Given the description of an element on the screen output the (x, y) to click on. 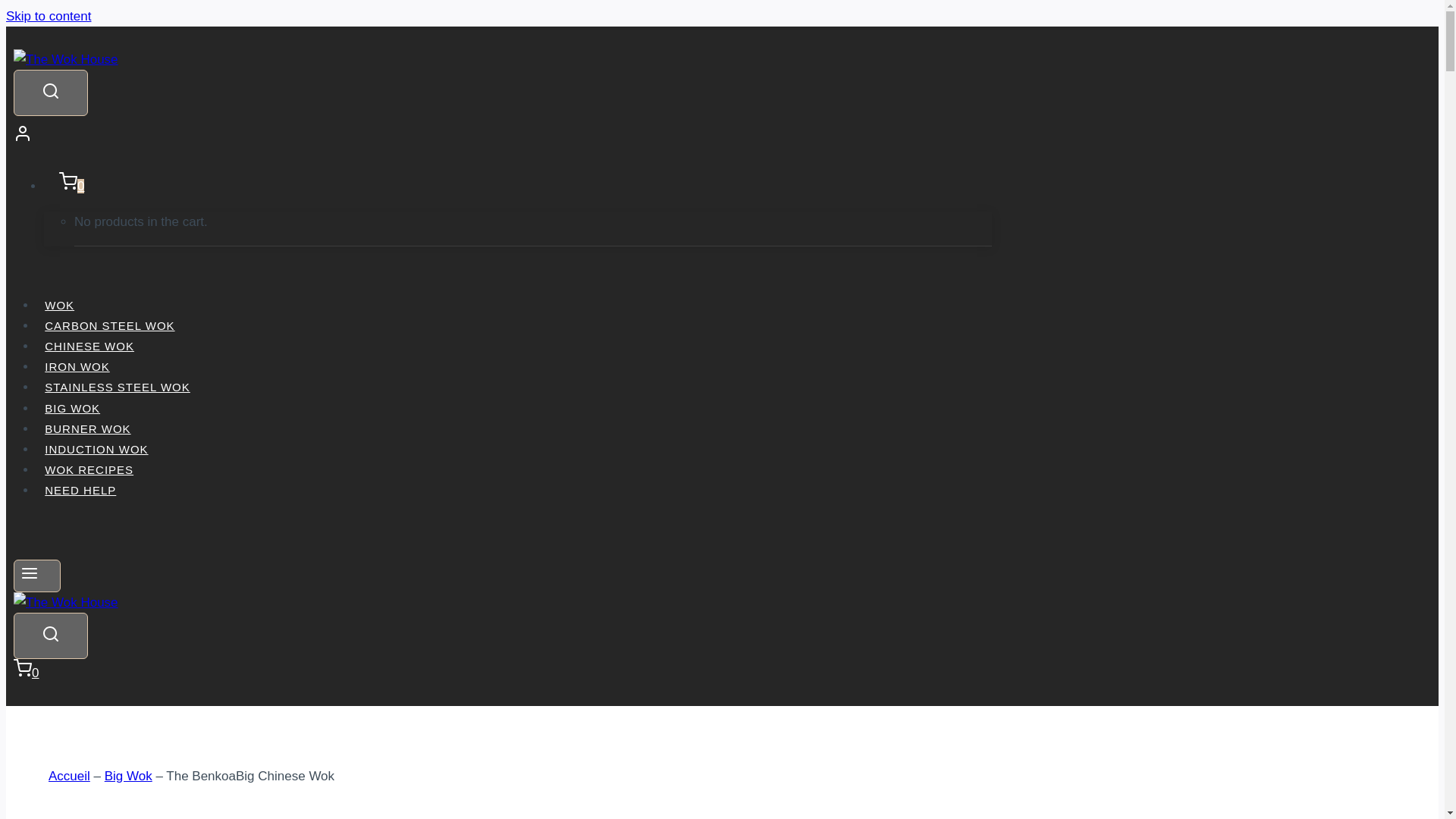
Shopping Cart (68, 180)
BURNER WOK (87, 428)
TOGGLE MENU (29, 573)
SEARCH (50, 633)
Account (502, 136)
Big Wok (128, 775)
INDUCTION WOK (96, 448)
SEARCH (50, 635)
Shopping Cart 0 (63, 186)
NEED HELP (80, 489)
